Given the description of an element on the screen output the (x, y) to click on. 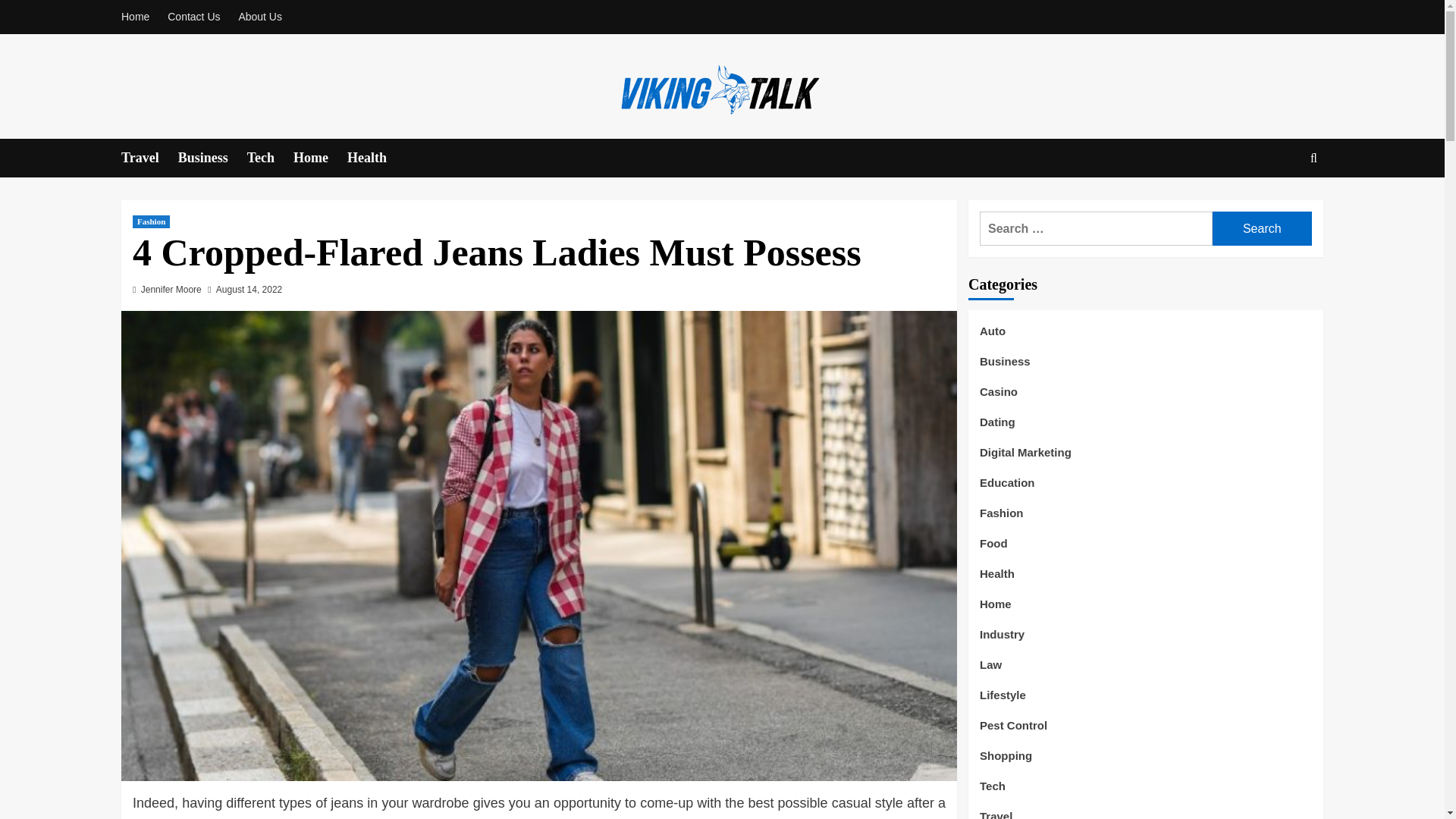
August 14, 2022 (248, 289)
About Us (259, 17)
Health (376, 157)
Home (138, 17)
Business (212, 157)
Search (1278, 204)
Fashion (151, 221)
Jennifer Moore (171, 289)
Casino (998, 397)
Search (1261, 228)
